Given the description of an element on the screen output the (x, y) to click on. 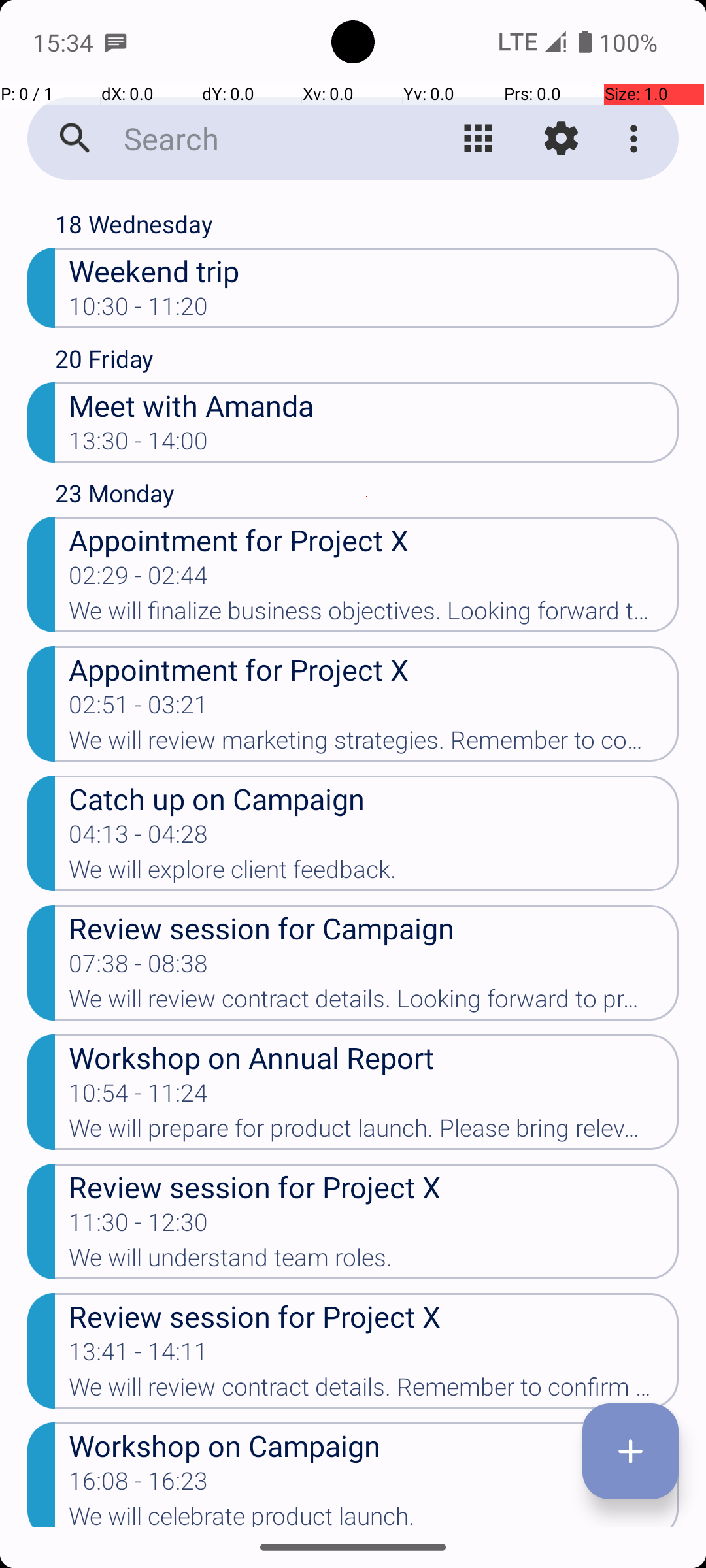
23 Monday Element type: android.widget.TextView (366, 496)
Weekend trip Element type: android.widget.TextView (373, 269)
10:30 - 11:20 Element type: android.widget.TextView (137, 309)
Meet with Amanda Element type: android.widget.TextView (373, 404)
13:30 - 14:00 Element type: android.widget.TextView (137, 444)
02:29 - 02:44 Element type: android.widget.TextView (137, 579)
We will finalize business objectives. Looking forward to productive discussions. Element type: android.widget.TextView (373, 614)
02:51 - 03:21 Element type: android.widget.TextView (137, 708)
We will review marketing strategies. Remember to confirm attendance. Element type: android.widget.TextView (373, 743)
04:13 - 04:28 Element type: android.widget.TextView (137, 837)
We will explore client feedback. Element type: android.widget.TextView (373, 873)
07:38 - 08:38 Element type: android.widget.TextView (137, 967)
We will review contract details. Looking forward to productive discussions. Element type: android.widget.TextView (373, 1002)
10:54 - 11:24 Element type: android.widget.TextView (137, 1096)
We will prepare for product launch. Please bring relevant documents. Element type: android.widget.TextView (373, 1131)
11:30 - 12:30 Element type: android.widget.TextView (137, 1225)
We will understand team roles. Element type: android.widget.TextView (373, 1261)
13:41 - 14:11 Element type: android.widget.TextView (137, 1355)
We will review contract details. Remember to confirm attendance. Element type: android.widget.TextView (373, 1390)
16:08 - 16:23 Element type: android.widget.TextView (137, 1484)
We will celebrate product launch. Element type: android.widget.TextView (373, 1514)
